Given the description of an element on the screen output the (x, y) to click on. 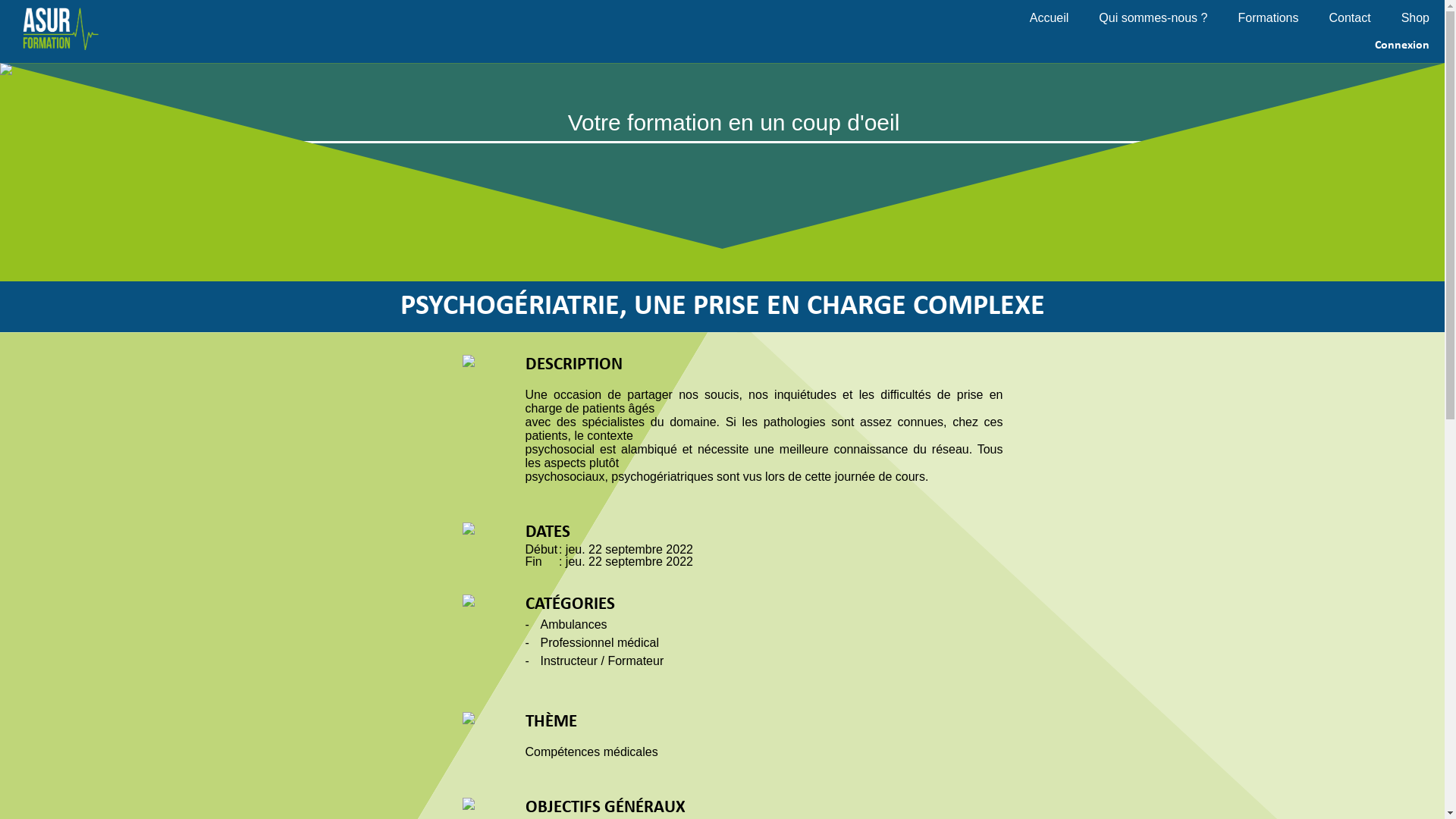
Accueil Element type: text (1064, 17)
Contact Element type: text (1364, 17)
Formations Element type: text (1282, 17)
Qui sommes-nous ? Element type: text (1167, 17)
Connexion Element type: text (1402, 45)
Shop Element type: text (1422, 17)
